Given the description of an element on the screen output the (x, y) to click on. 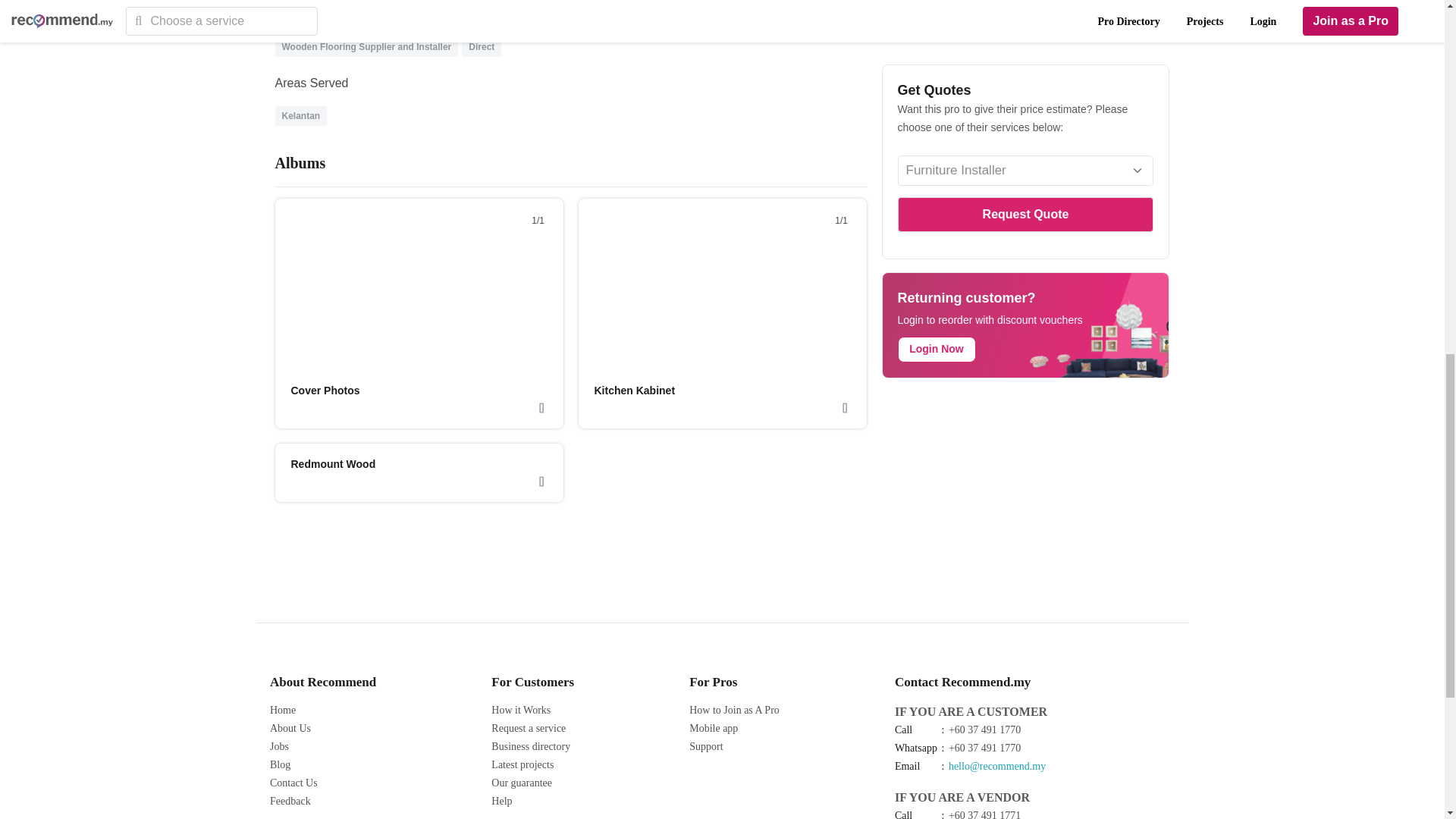
Office Furniture Installer and Supplier (587, 23)
Kitchen Kabinet (634, 390)
Post Renovation Cleaning (433, 23)
Cover Photos (325, 390)
Wooden Flooring Supplier and Installer (366, 46)
Kelantan (301, 115)
Redmount Wood (333, 463)
Direct (481, 46)
Furniture Installer (320, 23)
